Given the description of an element on the screen output the (x, y) to click on. 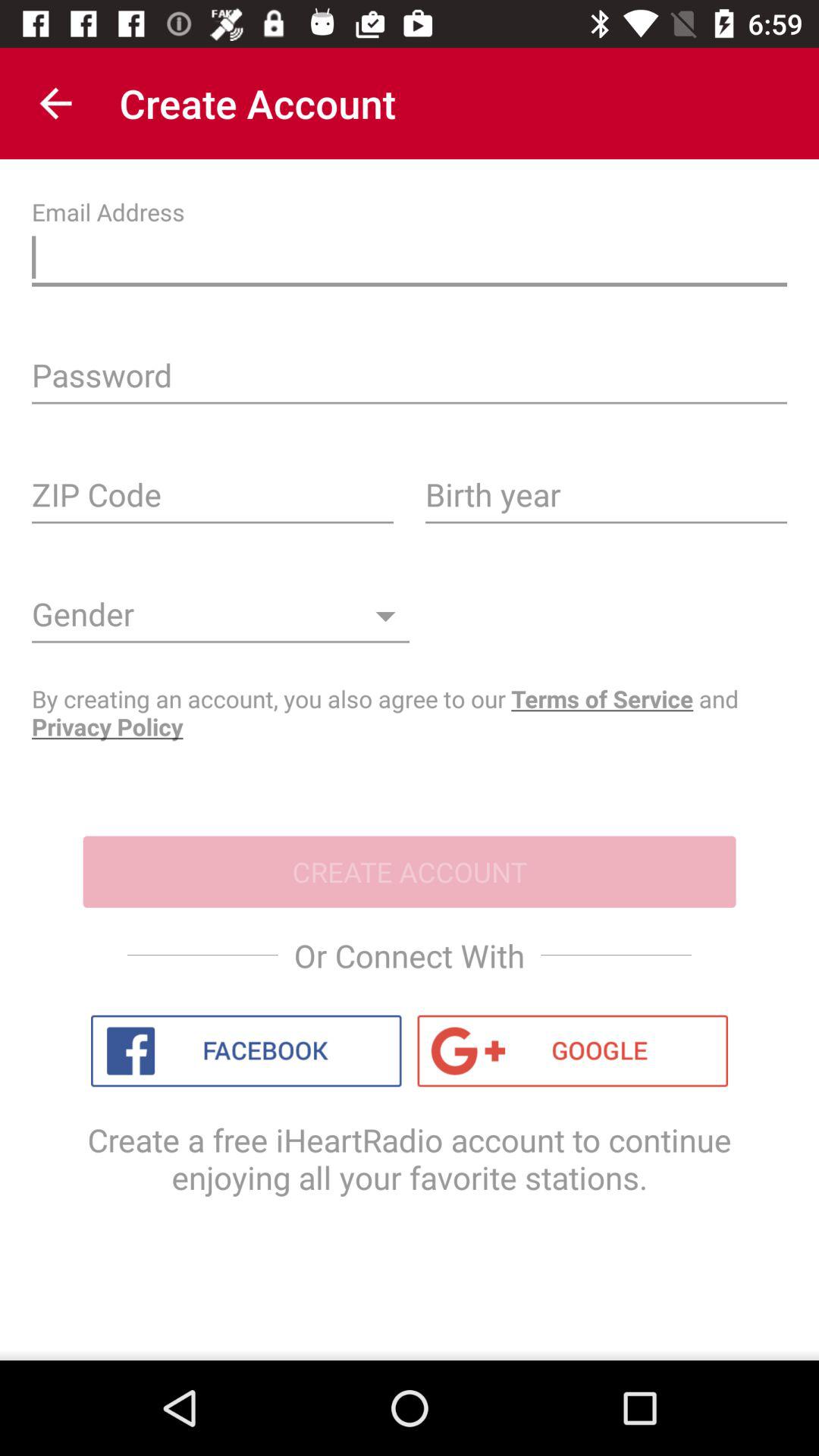
shows facebook option (246, 1050)
